Given the description of an element on the screen output the (x, y) to click on. 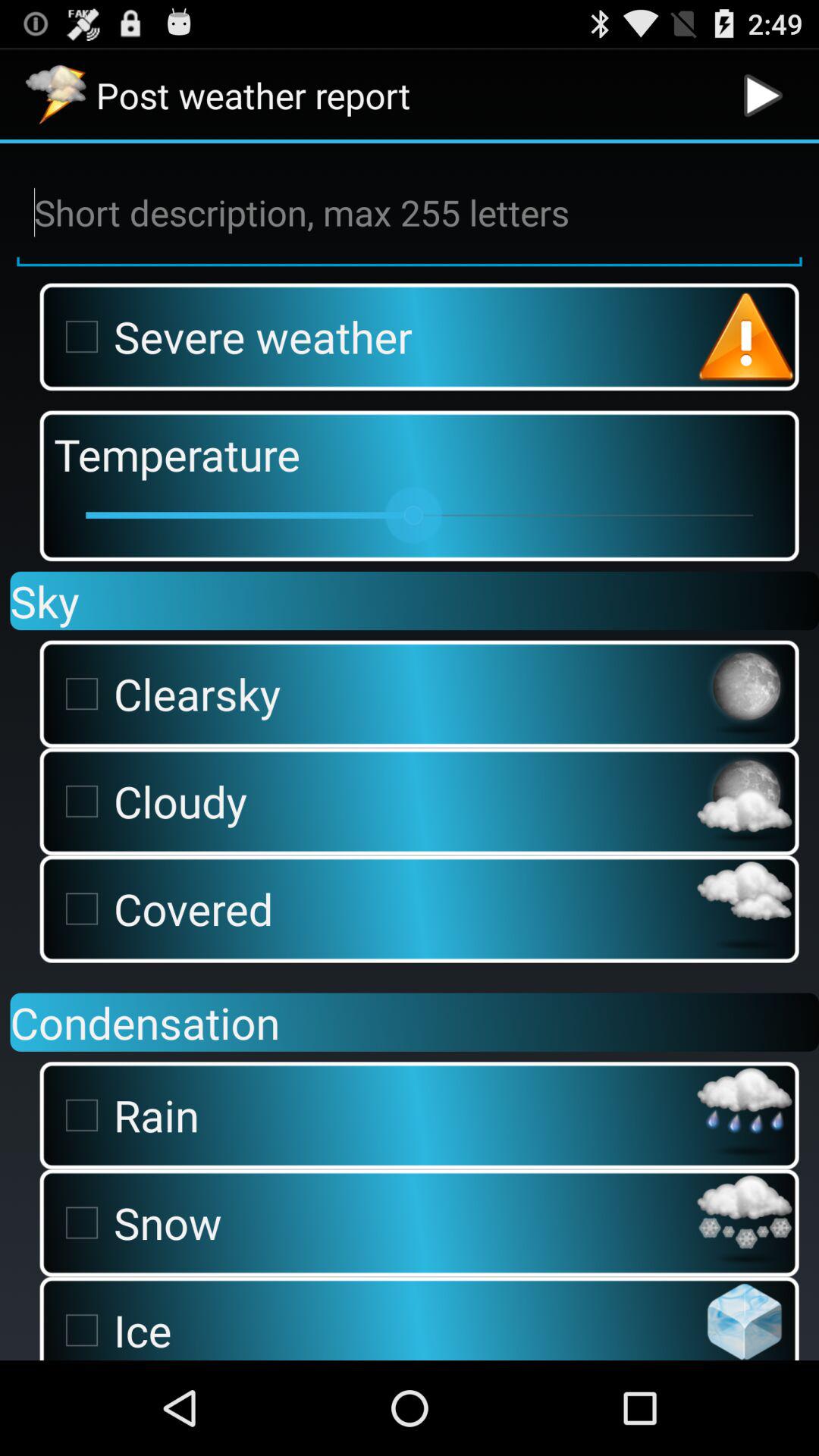
write a description (409, 213)
